Given the description of an element on the screen output the (x, y) to click on. 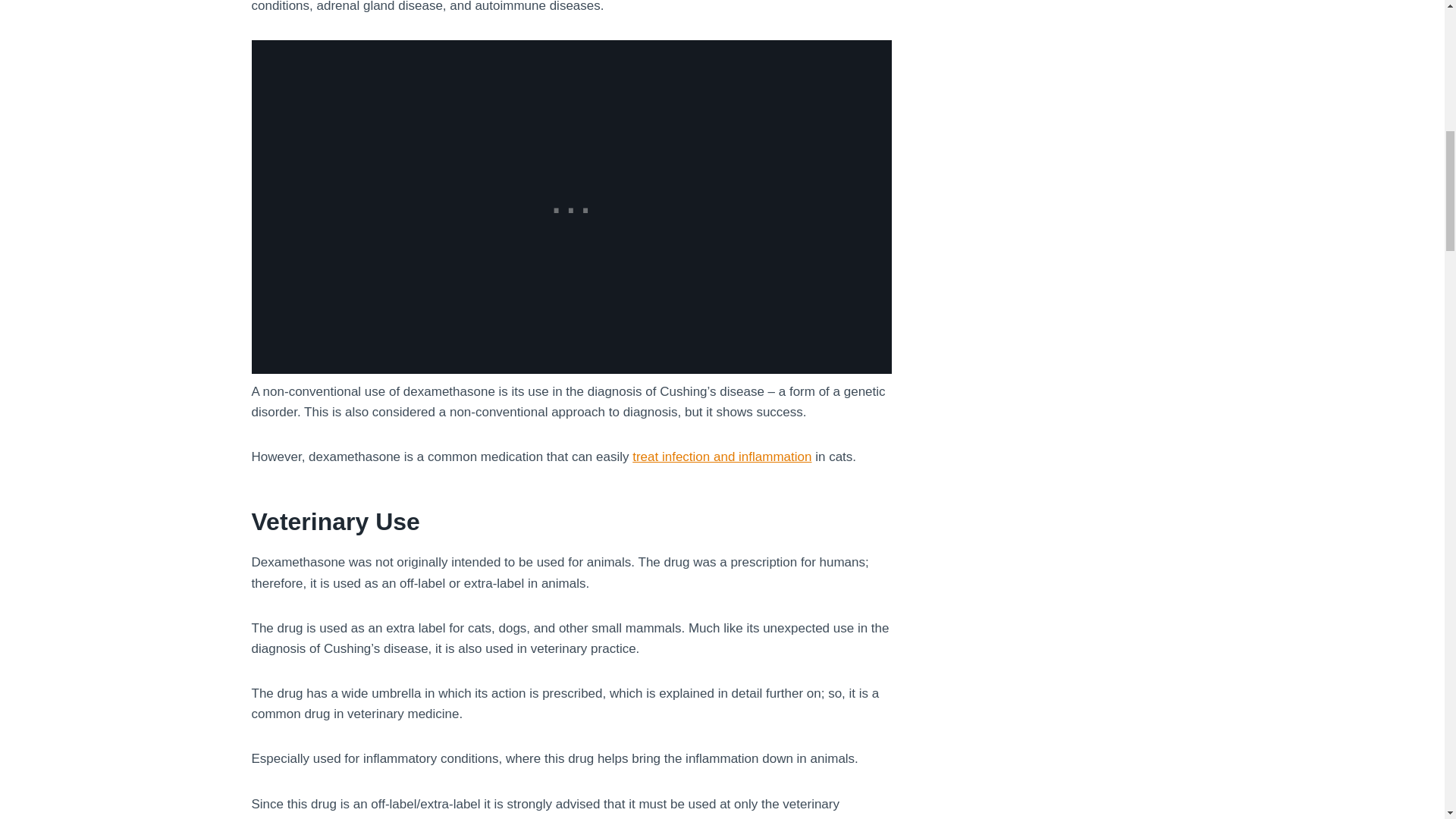
treat infection and inflammation (720, 456)
